Given the description of an element on the screen output the (x, y) to click on. 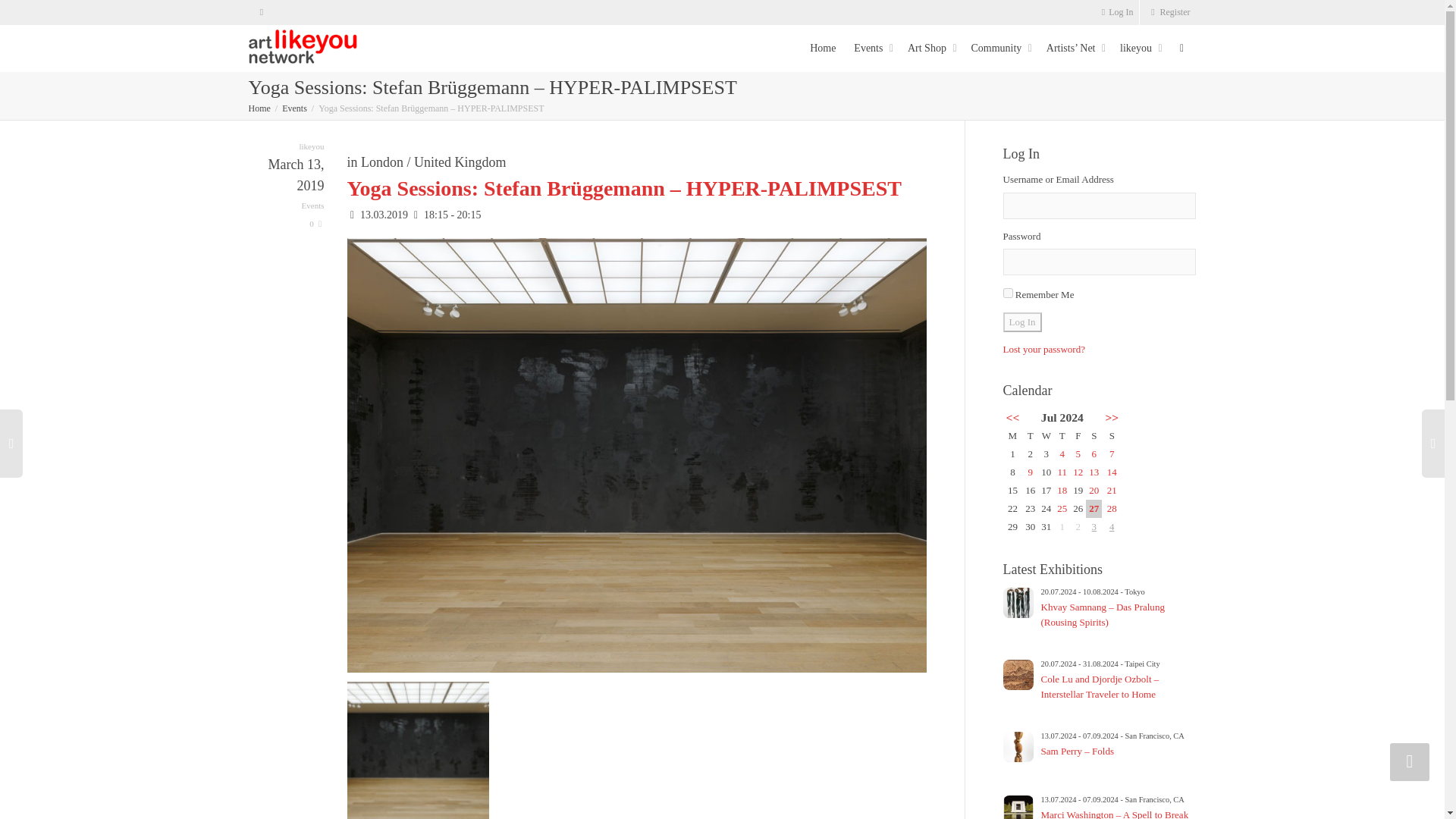
Register (1168, 12)
Log In (1118, 12)
likeyou (310, 145)
Log In (1118, 12)
likeyou artnetwork (303, 47)
Register (1168, 12)
Home (259, 108)
0 (315, 223)
Events (312, 204)
March 13, 2019 (286, 186)
Events (294, 108)
Artists' Net (1074, 48)
Art Shop (929, 48)
Community (999, 48)
forever (1007, 293)
